Given the description of an element on the screen output the (x, y) to click on. 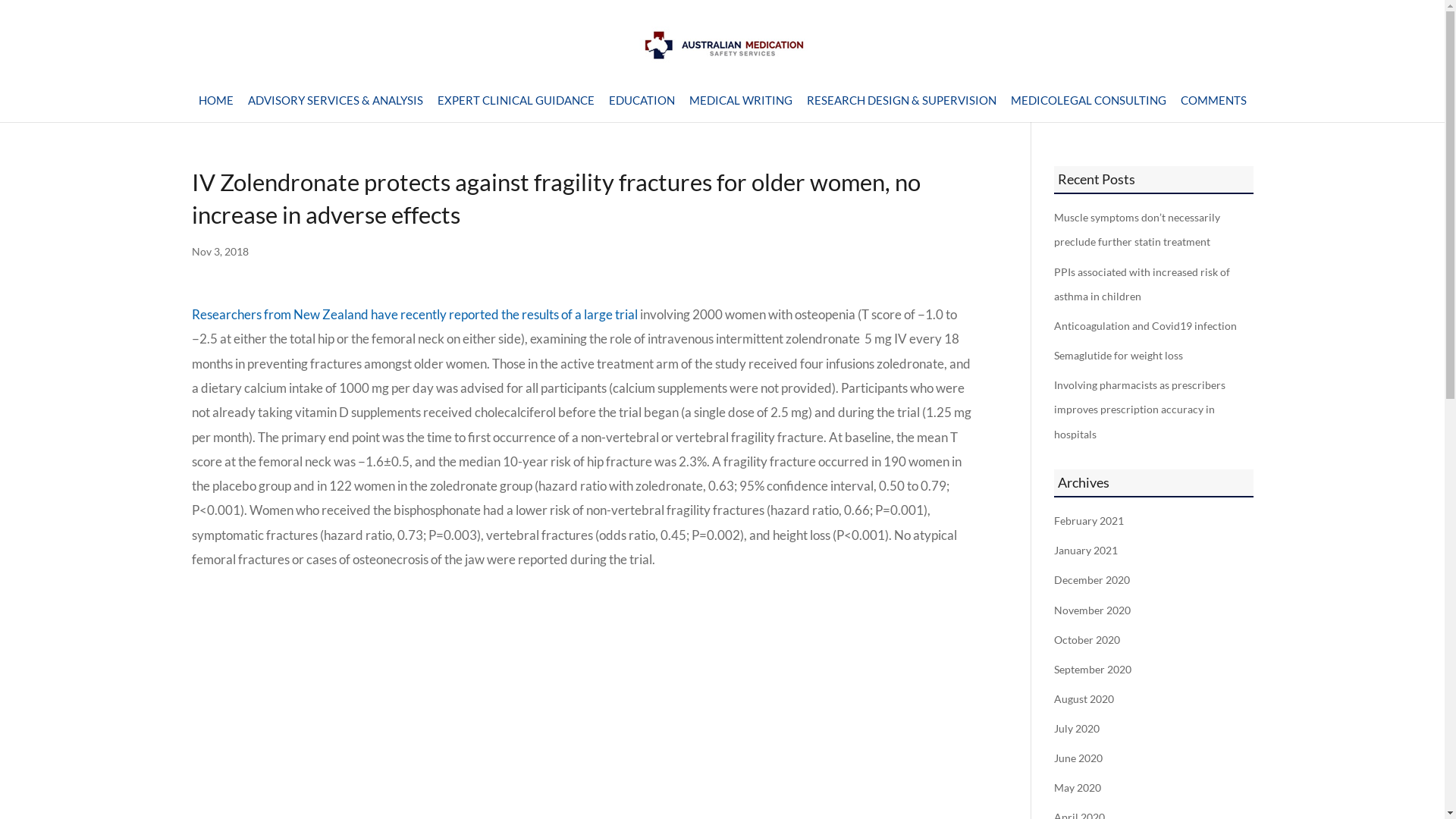
RESEARCH DESIGN & SUPERVISION Element type: text (901, 108)
HOME Element type: text (215, 108)
November 2020 Element type: text (1092, 610)
June 2020 Element type: text (1078, 758)
PPIs associated with increased risk of asthma in children Element type: text (1142, 284)
COMMENTS Element type: text (1212, 108)
MEDICAL WRITING Element type: text (739, 108)
Anticoagulation and Covid19 infection Element type: text (1145, 326)
February 2021 Element type: text (1088, 520)
EXPERT CLINICAL GUIDANCE Element type: text (514, 108)
September 2020 Element type: text (1092, 669)
EDUCATION Element type: text (641, 108)
August 2020 Element type: text (1083, 699)
January 2021 Element type: text (1085, 550)
ADVISORY SERVICES & ANALYSIS Element type: text (334, 108)
July 2020 Element type: text (1076, 728)
May 2020 Element type: text (1077, 787)
MEDICOLEGAL CONSULTING Element type: text (1087, 108)
Semaglutide for weight loss Element type: text (1118, 355)
October 2020 Element type: text (1087, 639)
December 2020 Element type: text (1091, 580)
